Given the description of an element on the screen output the (x, y) to click on. 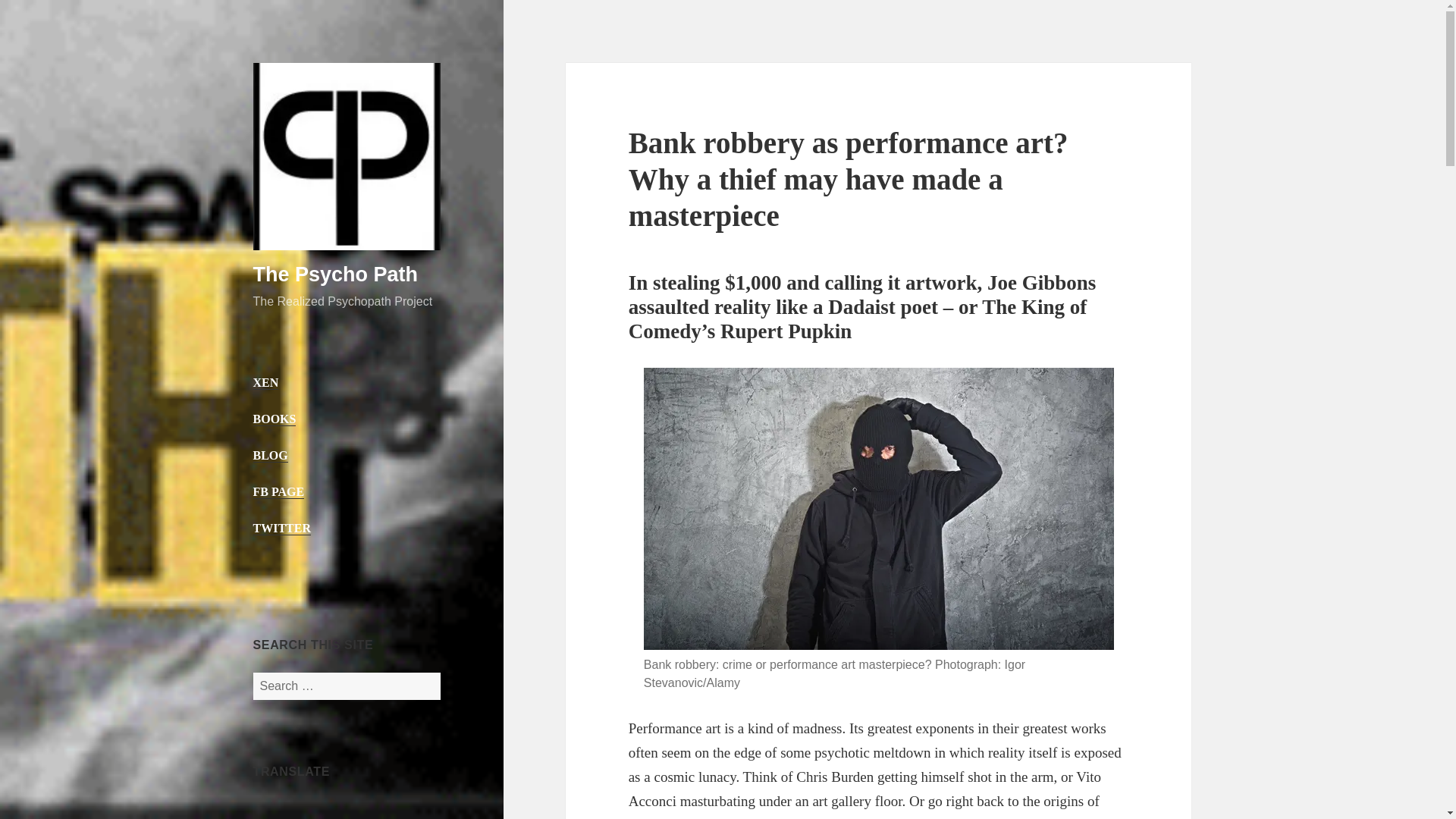
BLOG (270, 455)
XEN (266, 382)
TWITTER (282, 528)
FB PAGE (278, 491)
BOOKS (275, 418)
The Psycho Path (336, 273)
